Given the description of an element on the screen output the (x, y) to click on. 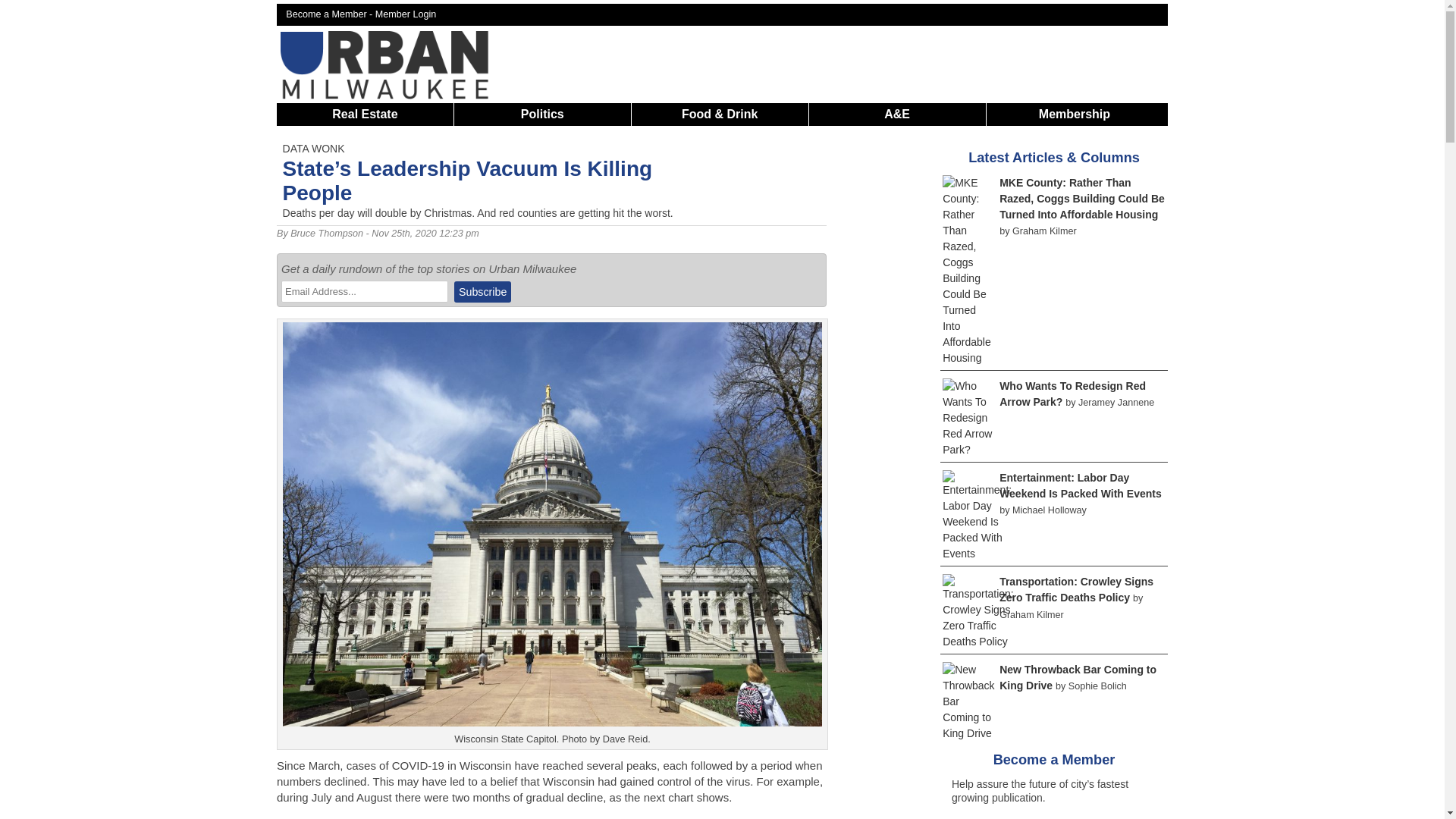
Become a Member - (330, 14)
Subscribe (482, 291)
Membership (1074, 113)
Bruce Thompson (325, 233)
Subscribe (482, 291)
Member Login (405, 14)
Posts by Bruce Thompson (325, 233)
Politics (542, 113)
Real Estate (364, 113)
